Given the description of an element on the screen output the (x, y) to click on. 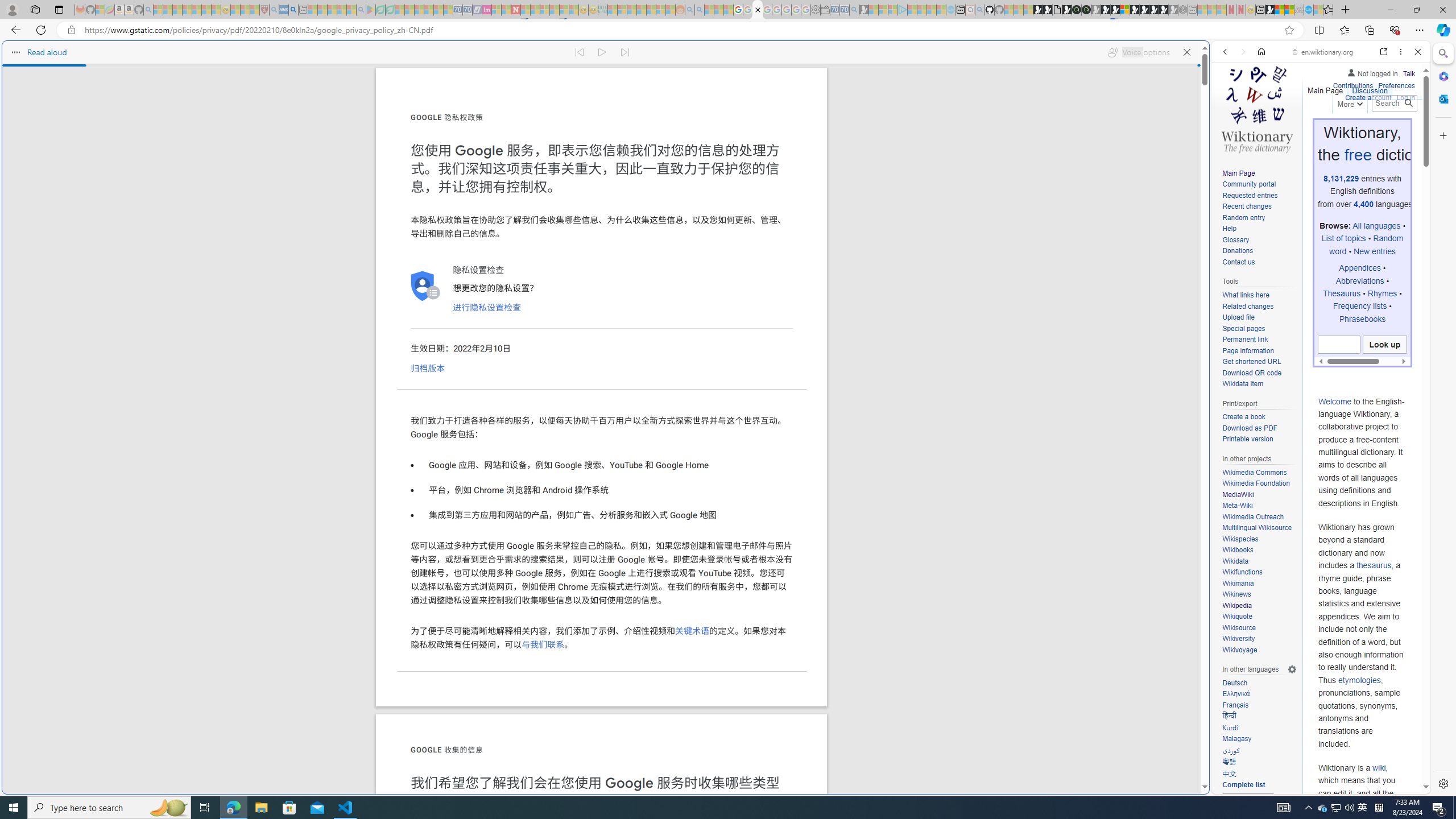
Random entry (1259, 218)
Terms of Use Agreement - Sleeping (380, 9)
Sign in to your account (1124, 9)
Permanent link (1244, 339)
Malagasy (1259, 739)
Tabs you've opened (885, 151)
Home | Sky Blue Bikes - Sky Blue Bikes (1118, 242)
Wikibooks (1259, 550)
Wikimedia Outreach (1252, 516)
WEB   (1230, 130)
